Given the description of an element on the screen output the (x, y) to click on. 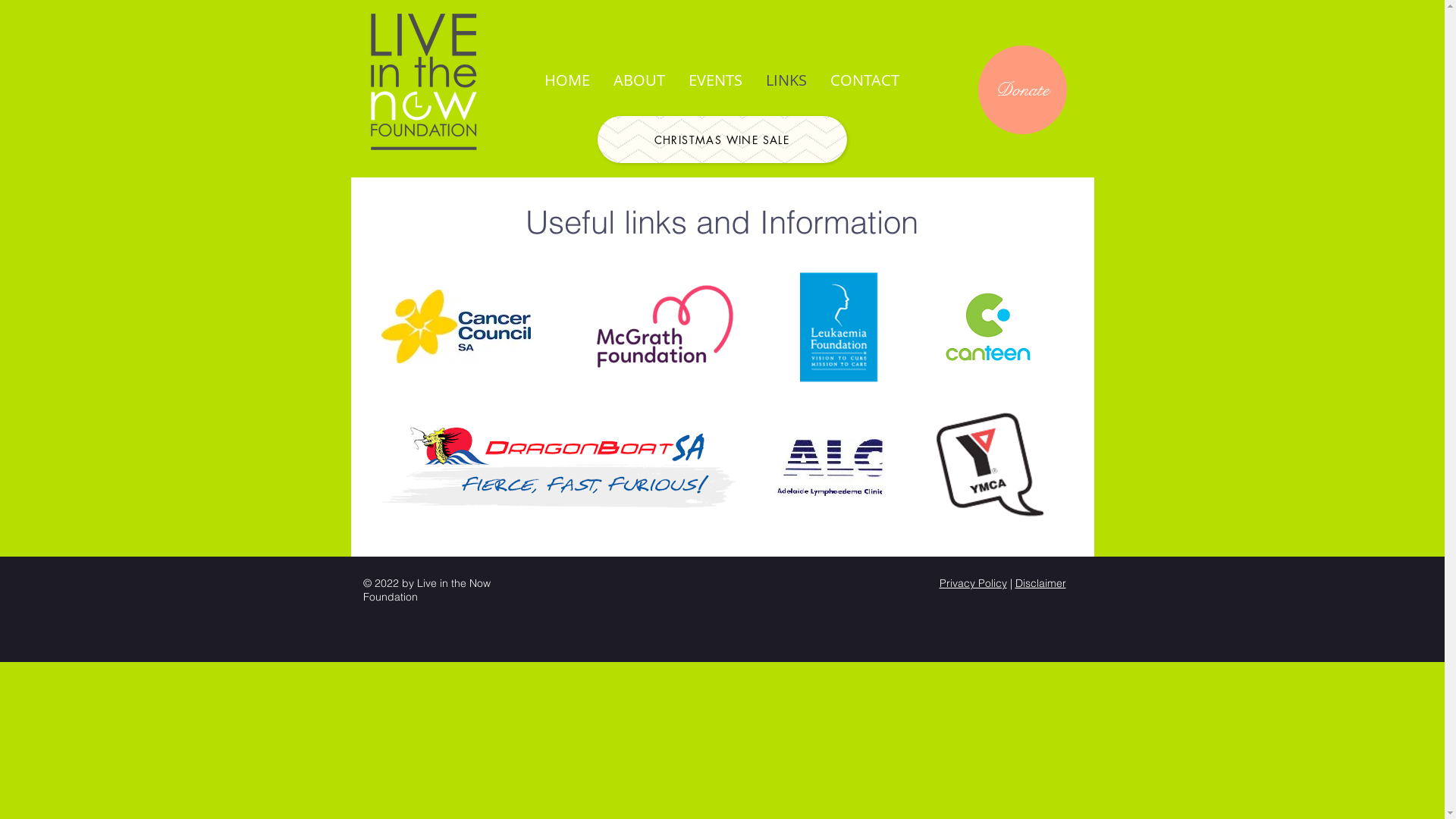
Donate Element type: text (1022, 89)
Disclaimer Element type: text (1039, 582)
LINKS Element type: text (785, 80)
HOME Element type: text (566, 80)
CONTACT Element type: text (864, 80)
Privacy Policy Element type: text (972, 582)
ABOUT Element type: text (639, 80)
CHRISTMAS WINE SALE Element type: text (722, 139)
EVENTS Element type: text (714, 80)
